Given the description of an element on the screen output the (x, y) to click on. 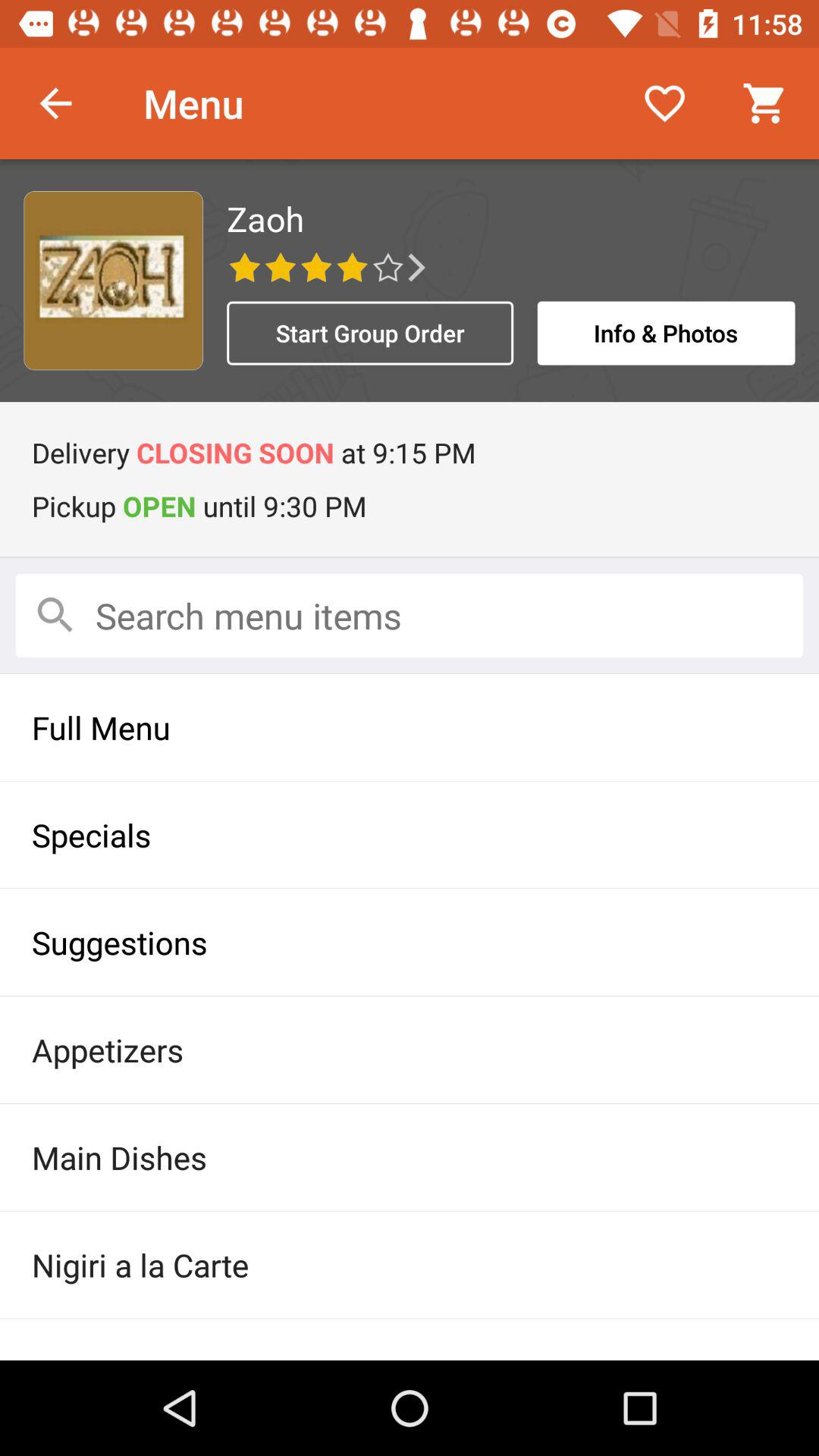
tap the specials item (409, 834)
